Given the description of an element on the screen output the (x, y) to click on. 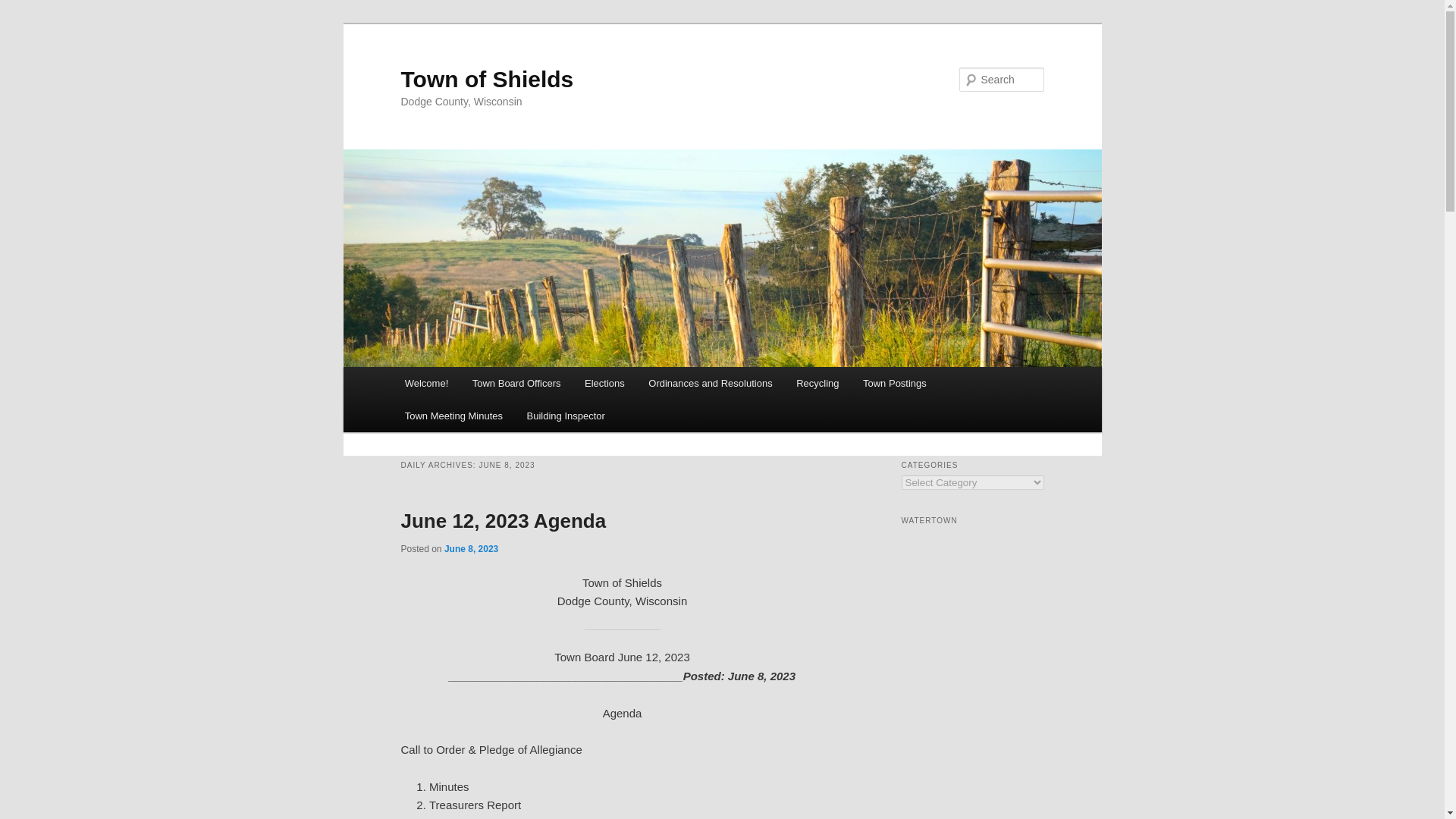
Town Board Officers (516, 382)
Town Meeting Minutes (454, 415)
Search (24, 8)
Town Postings (893, 382)
Recycling (817, 382)
5:13 pm (470, 548)
Elections (604, 382)
Welcome! (426, 382)
Ordinances and Resolutions (710, 382)
June 8, 2023 (470, 548)
Building Inspector (566, 415)
Town of Shields (486, 78)
June 12, 2023 Agenda (502, 520)
